Given the description of an element on the screen output the (x, y) to click on. 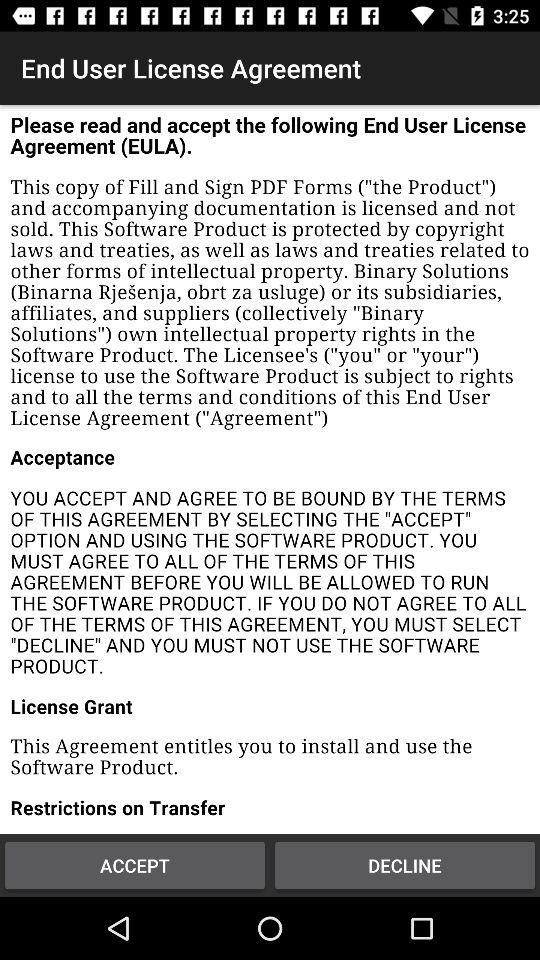
color print (270, 469)
